Given the description of an element on the screen output the (x, y) to click on. 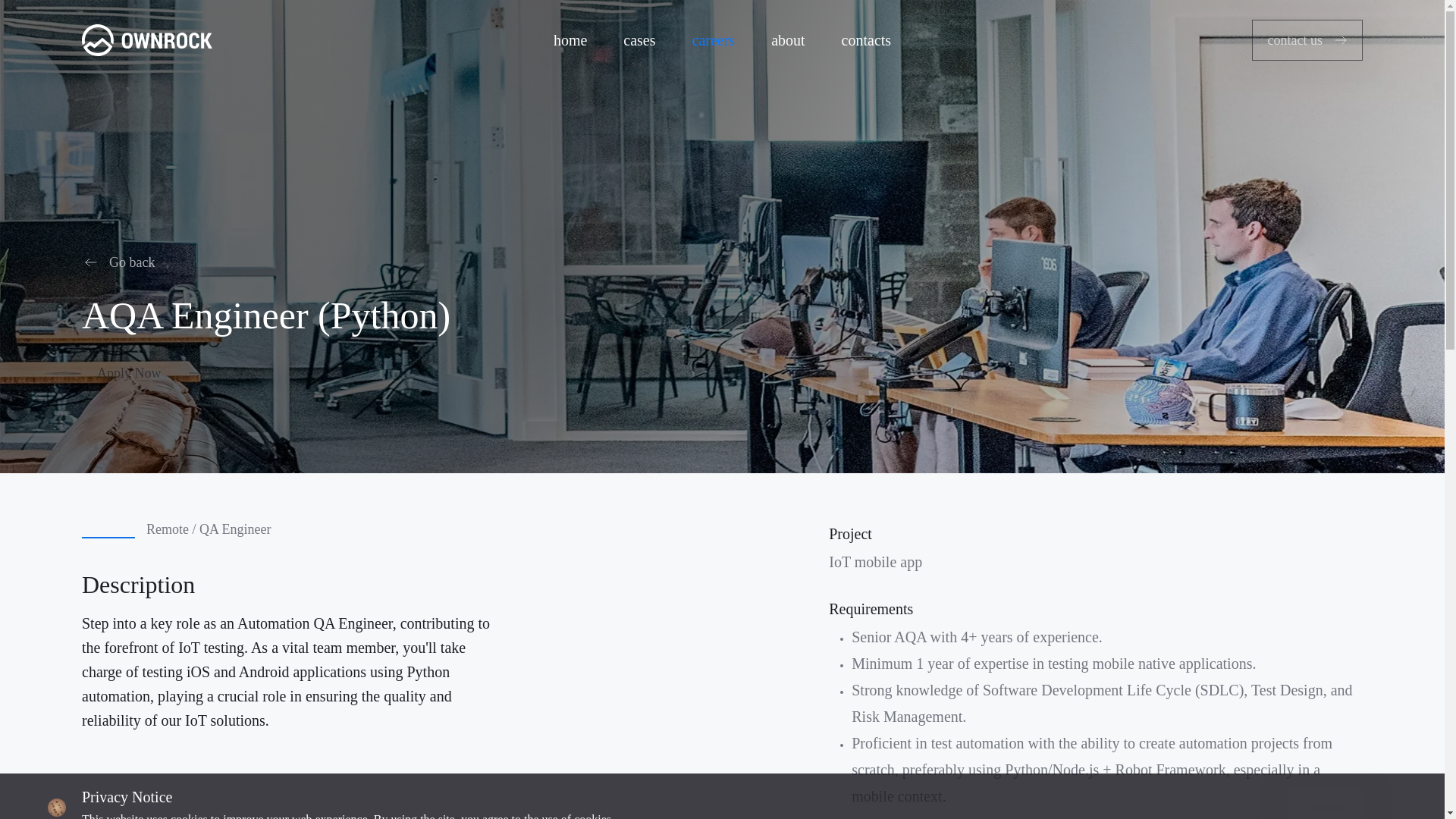
Apply Now (148, 372)
home (570, 39)
contacts (867, 39)
contact us (1307, 39)
cases (638, 39)
Go back (124, 261)
careers (714, 39)
about (787, 39)
Dismiss (1325, 803)
